Given the description of an element on the screen output the (x, y) to click on. 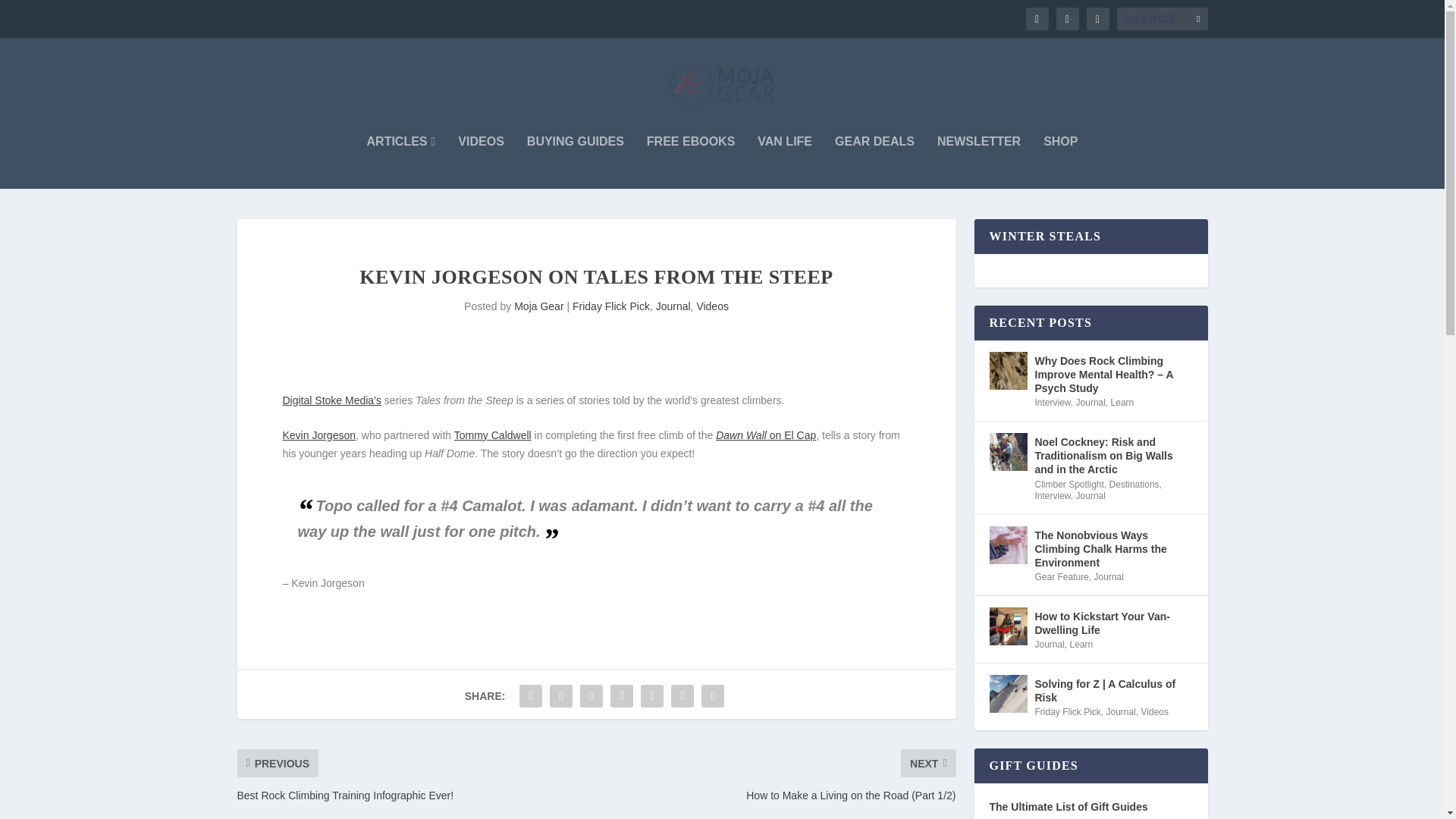
Share "Kevin Jorgeson on Tales from the Steep" via Print (712, 695)
ARTICLES (400, 162)
Search for: (1161, 18)
Videos (712, 306)
Share "Kevin Jorgeson on Tales from the Steep" via Email (681, 695)
Kevin Jorgeson (318, 435)
Share "Kevin Jorgeson on Tales from the Steep" via Facebook (530, 695)
FREE EBOOKS (690, 162)
Share "Kevin Jorgeson on Tales from the Steep" via Tumblr (591, 695)
